Given the description of an element on the screen output the (x, y) to click on. 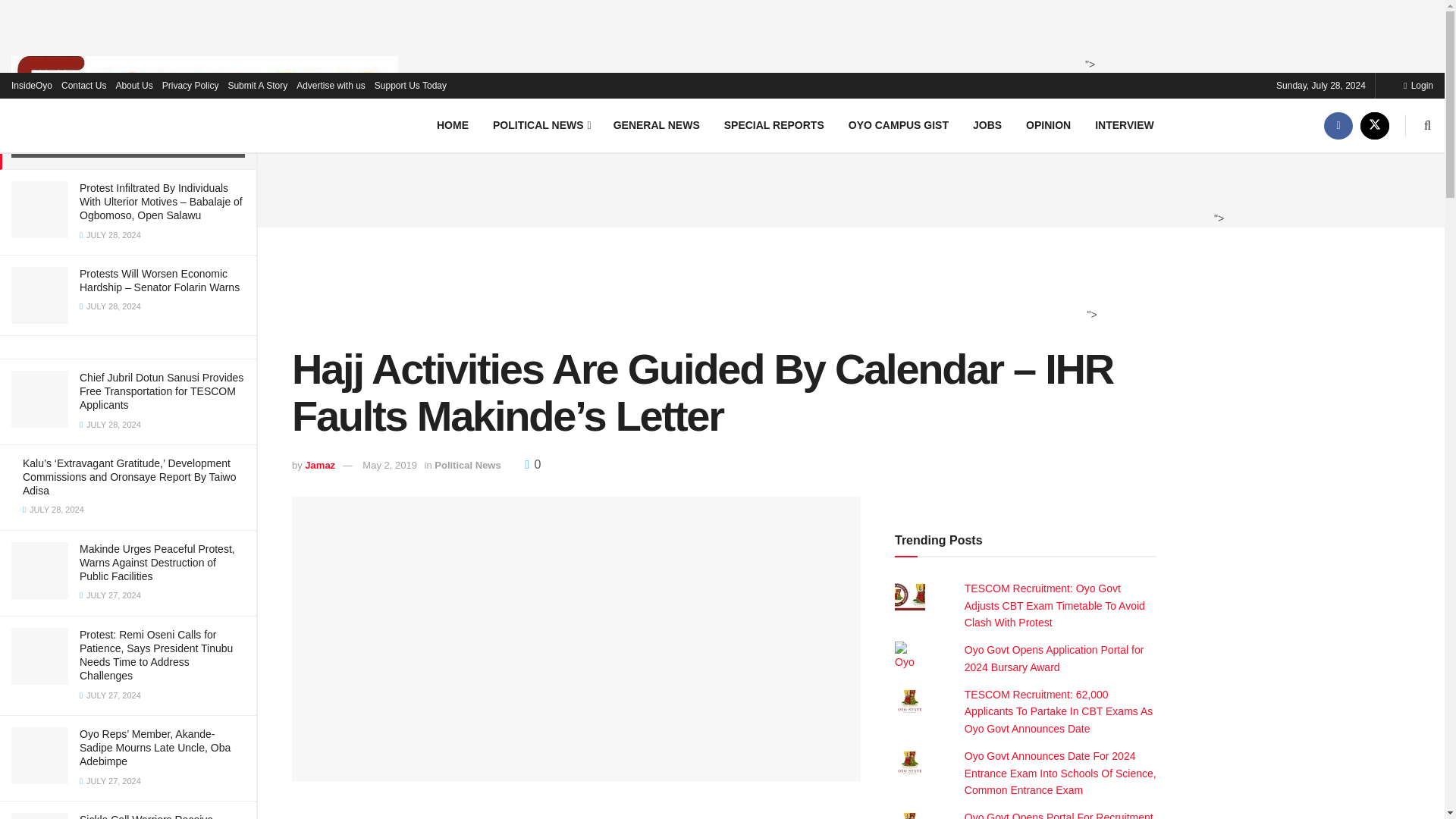
Support Us Today (410, 85)
Contact Us (83, 85)
HOME (452, 125)
Advertise with us (331, 85)
POLITICAL NEWS (540, 125)
Privacy Policy (190, 85)
Submit A Story (256, 85)
Oyo Govt Opens Application Portal for 2024 Bursary Award (1053, 657)
About Us (133, 85)
